Given the description of an element on the screen output the (x, y) to click on. 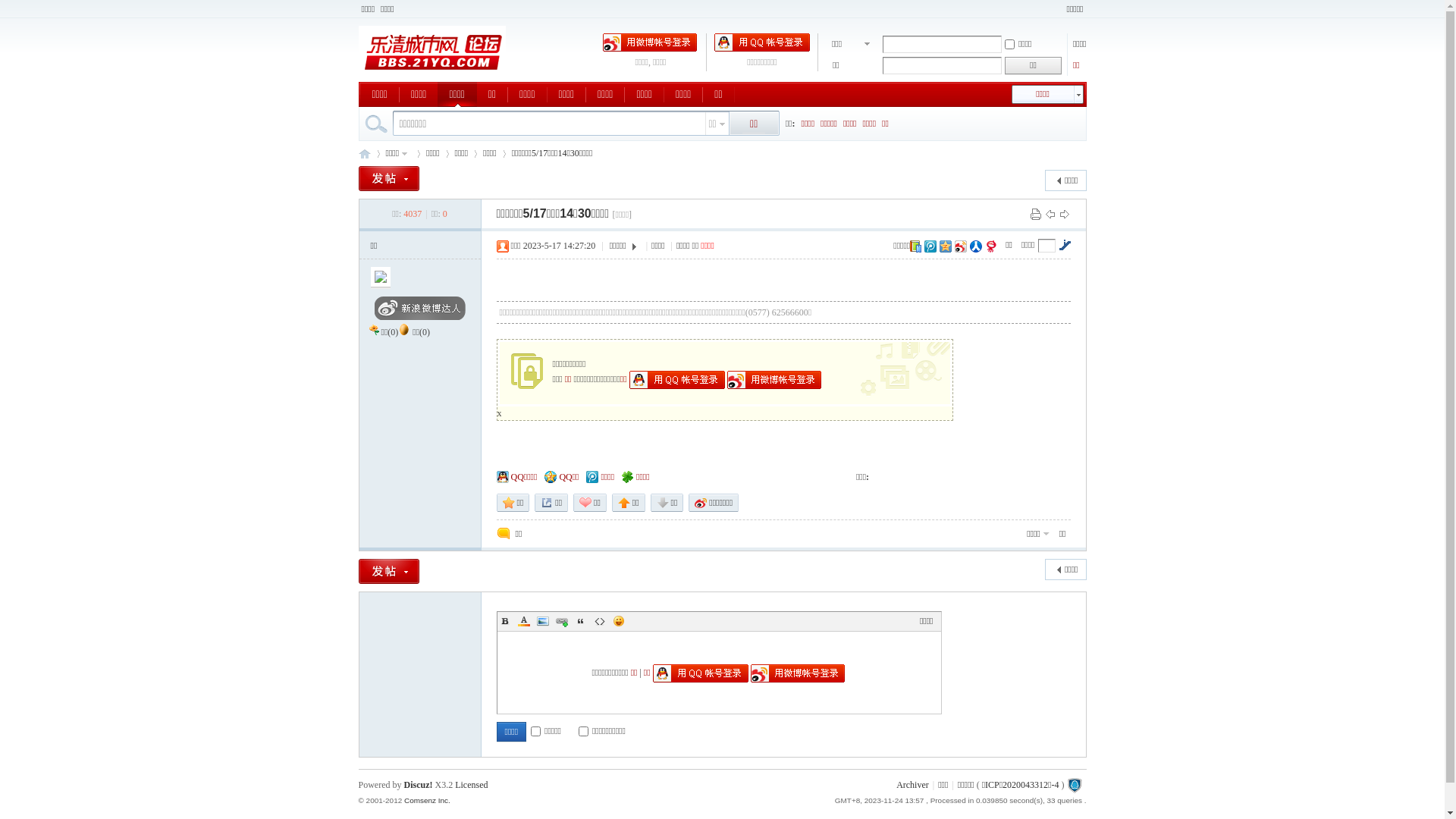
x Element type: text (499, 412)
Image Element type: text (542, 620)
Code Element type: text (598, 620)
Discuz! Element type: text (417, 784)
Archiver Element type: text (912, 784)
B Element type: text (504, 620)
Smilies Element type: text (618, 620)
Quote Element type: text (580, 620)
Color Element type: text (522, 620)
Link Element type: text (560, 620)
Comsenz Inc. Element type: text (427, 800)
Licensed Element type: text (471, 784)
